Given the description of an element on the screen output the (x, y) to click on. 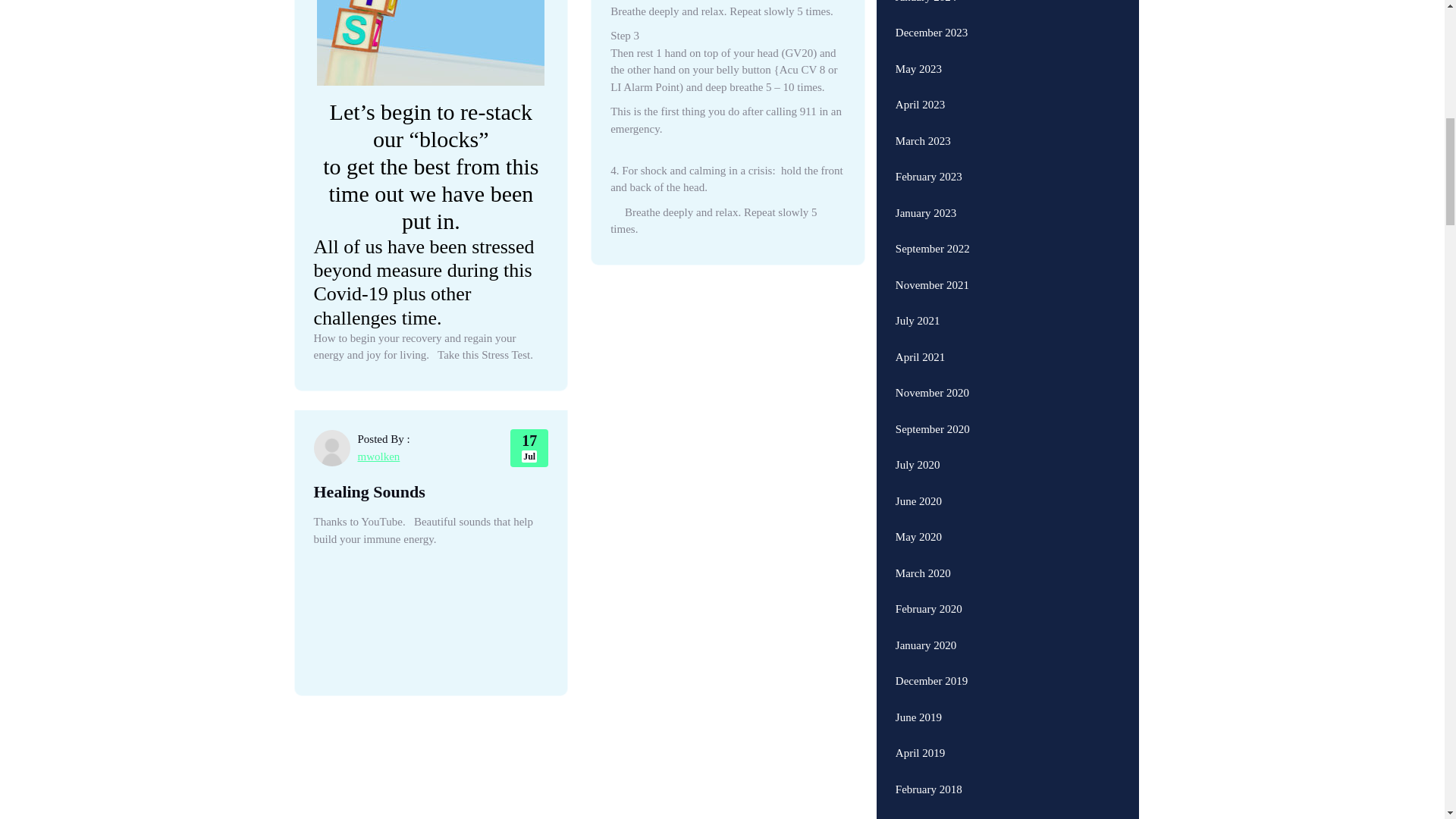
July 2020 (917, 446)
April 2023 (919, 85)
September 2022 (932, 230)
November 2021 (932, 266)
April 2021 (919, 338)
May 2020 (918, 518)
March 2023 (922, 122)
July 2021 (917, 302)
Healing Sounds (529, 447)
